Given the description of an element on the screen output the (x, y) to click on. 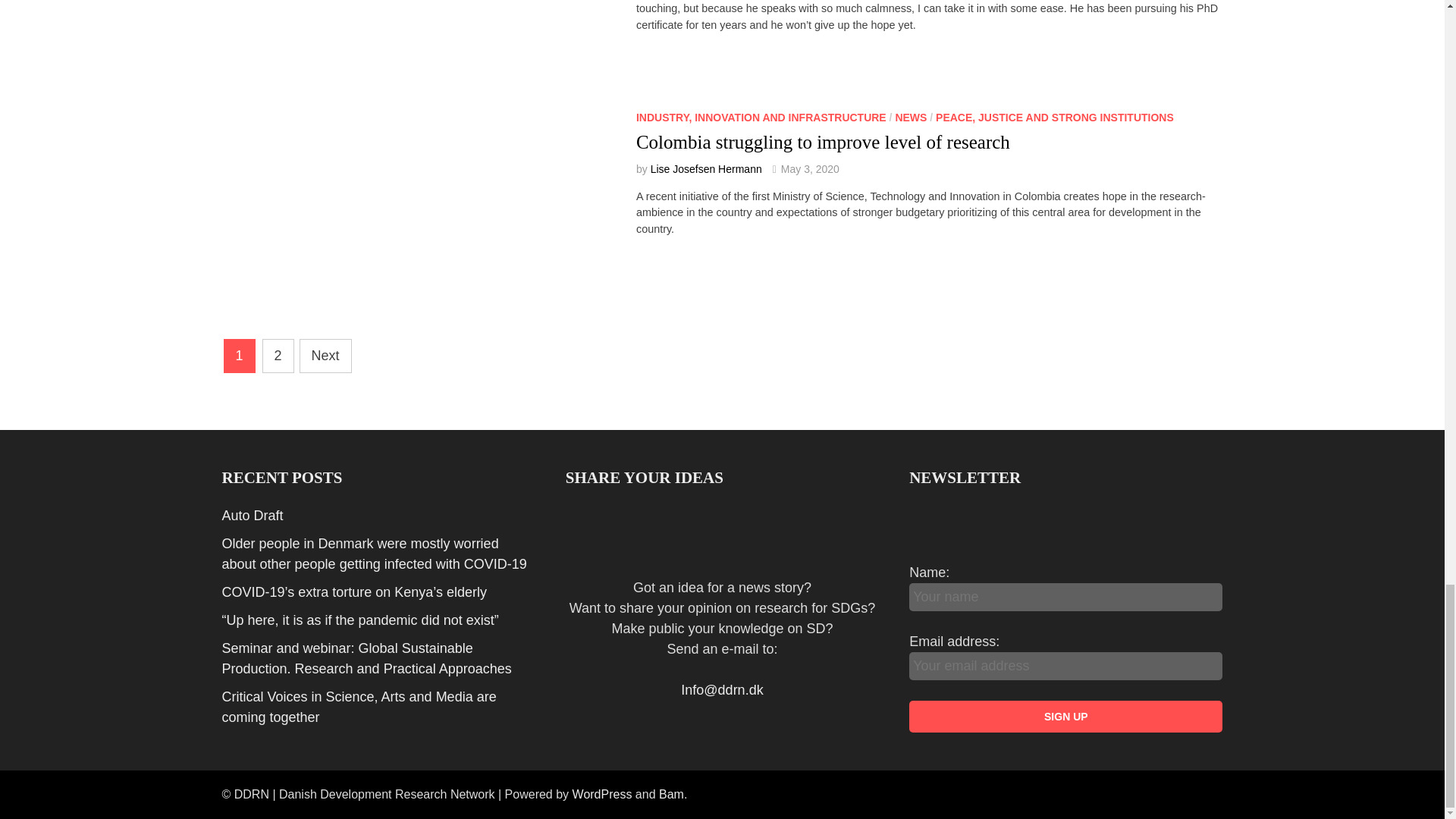
Sign up (1065, 716)
